Given the description of an element on the screen output the (x, y) to click on. 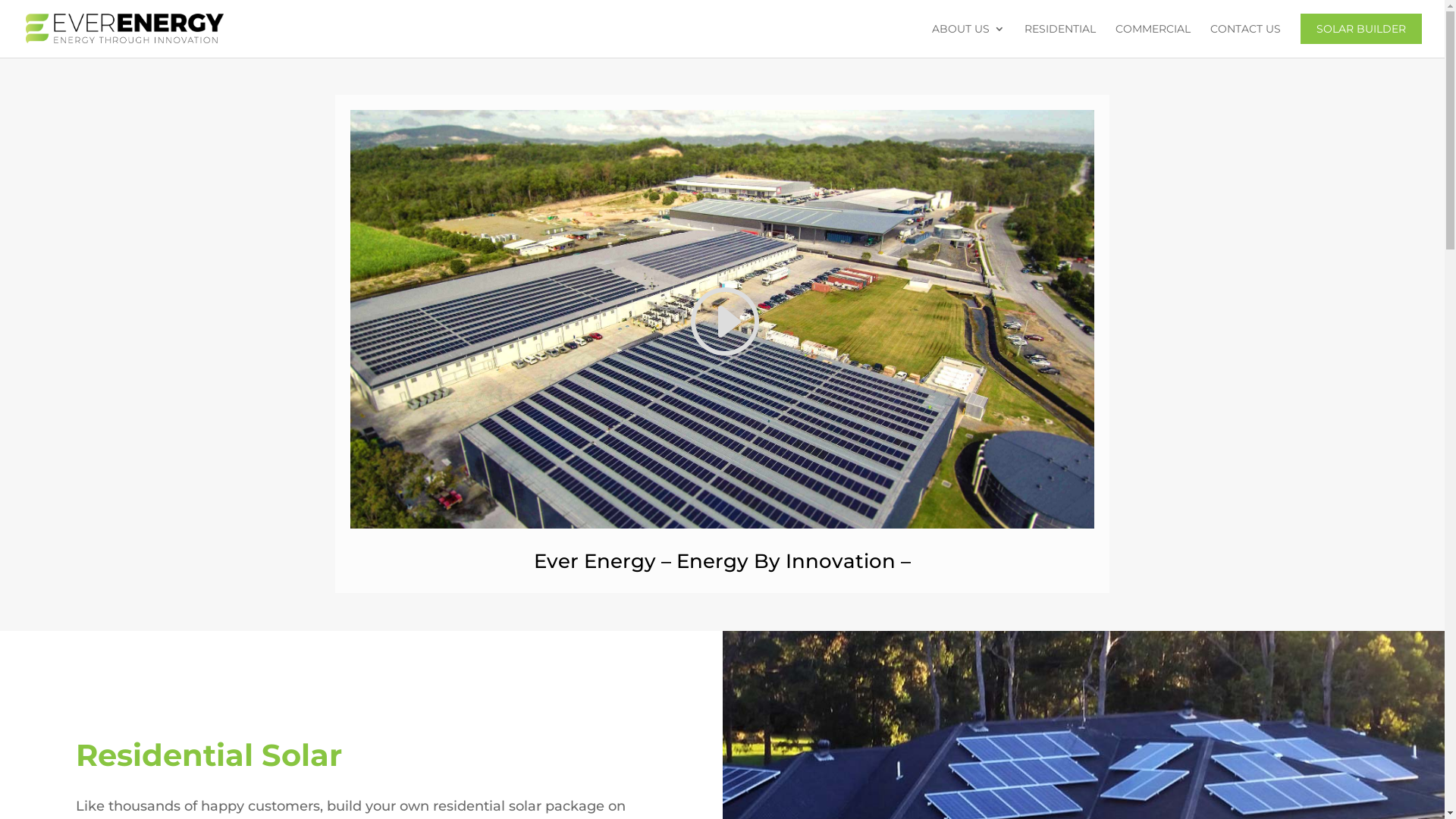
COMMERCIAL Element type: text (1152, 39)
SOLAR BUILDER Element type: text (1360, 39)
RESIDENTIAL Element type: text (1059, 39)
CONTACT US Element type: text (1245, 39)
ABOUT US Element type: text (967, 39)
